Given the description of an element on the screen output the (x, y) to click on. 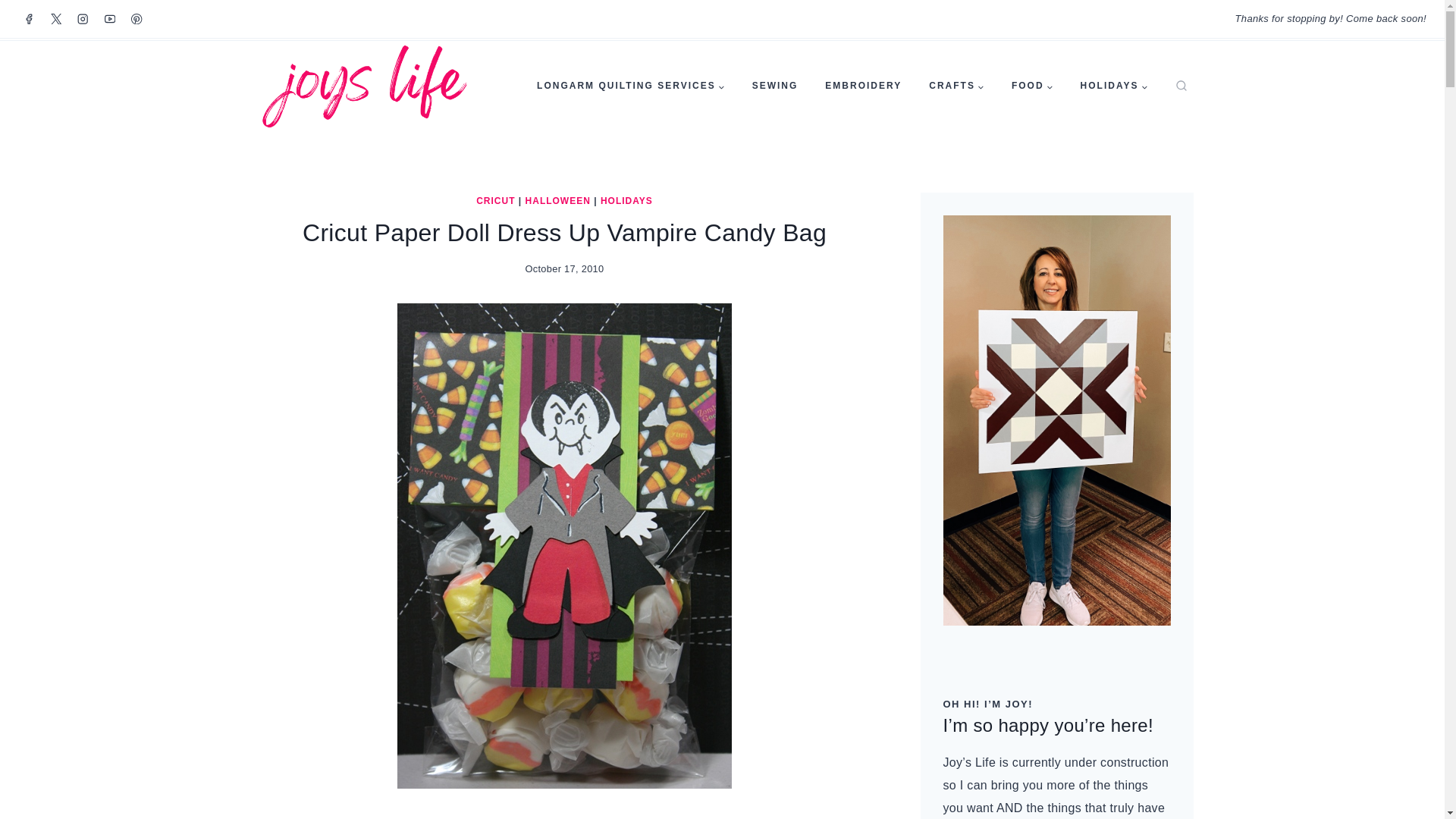
CRAFTS (956, 85)
LONGARM QUILTING SERVICES (630, 85)
SEWING (775, 85)
FOOD (1032, 85)
HOLIDAYS (1114, 85)
CRICUT (495, 200)
EMBROIDERY (862, 85)
